Given the description of an element on the screen output the (x, y) to click on. 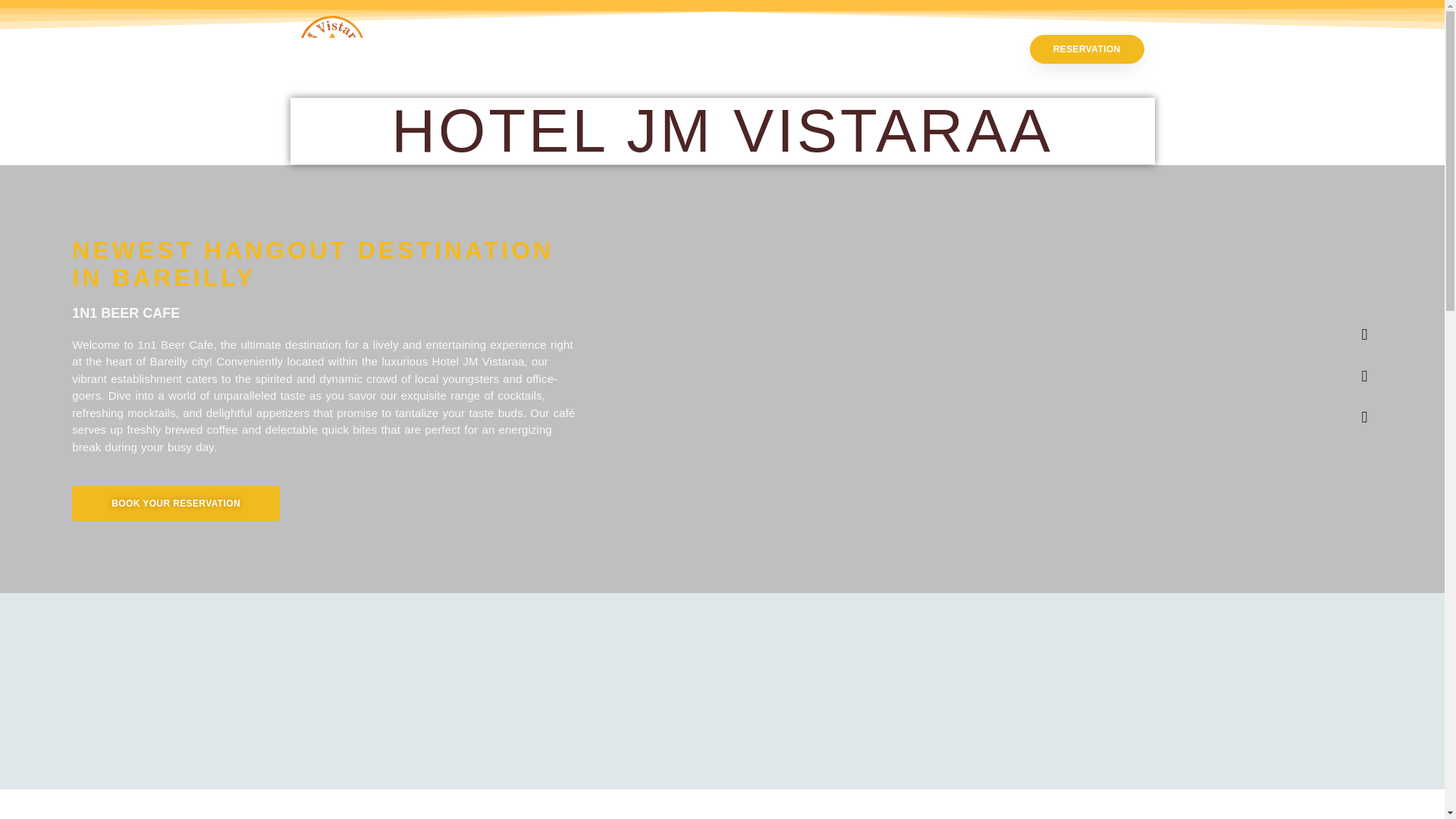
RESERVATION (1086, 49)
BOOK YOUR RESERVATION (175, 503)
HOTEL JM VISTARAA (721, 130)
